Given the description of an element on the screen output the (x, y) to click on. 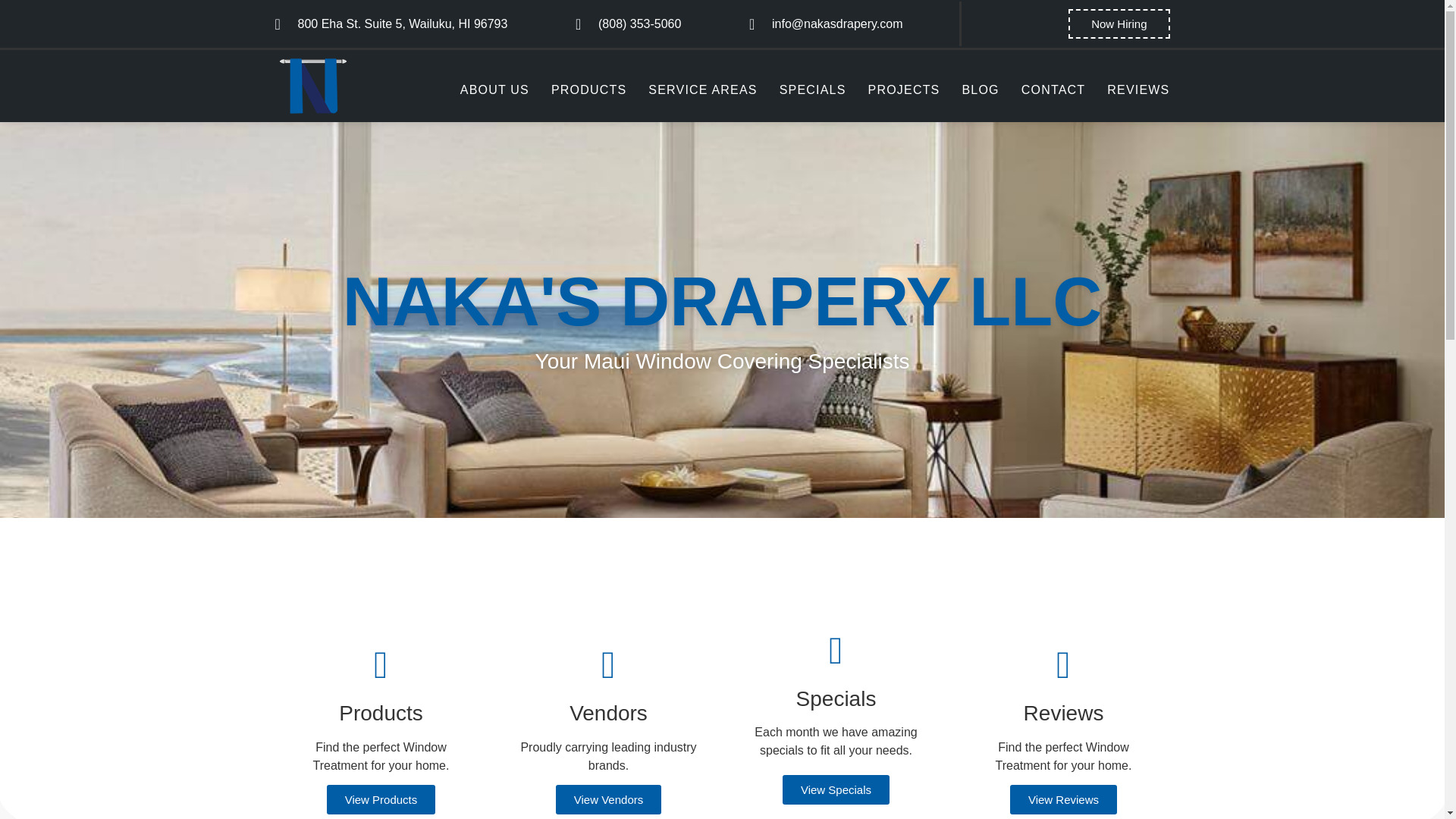
CONTACT (1054, 90)
PRODUCTS (588, 90)
SERVICE AREAS (702, 90)
ABOUT US (494, 90)
Now Hiring (1118, 23)
PROJECTS (903, 90)
SPECIALS (811, 90)
REVIEWS (1137, 90)
800 Eha St. Suite 5, Wailuku, HI 96793 (390, 24)
